Given the description of an element on the screen output the (x, y) to click on. 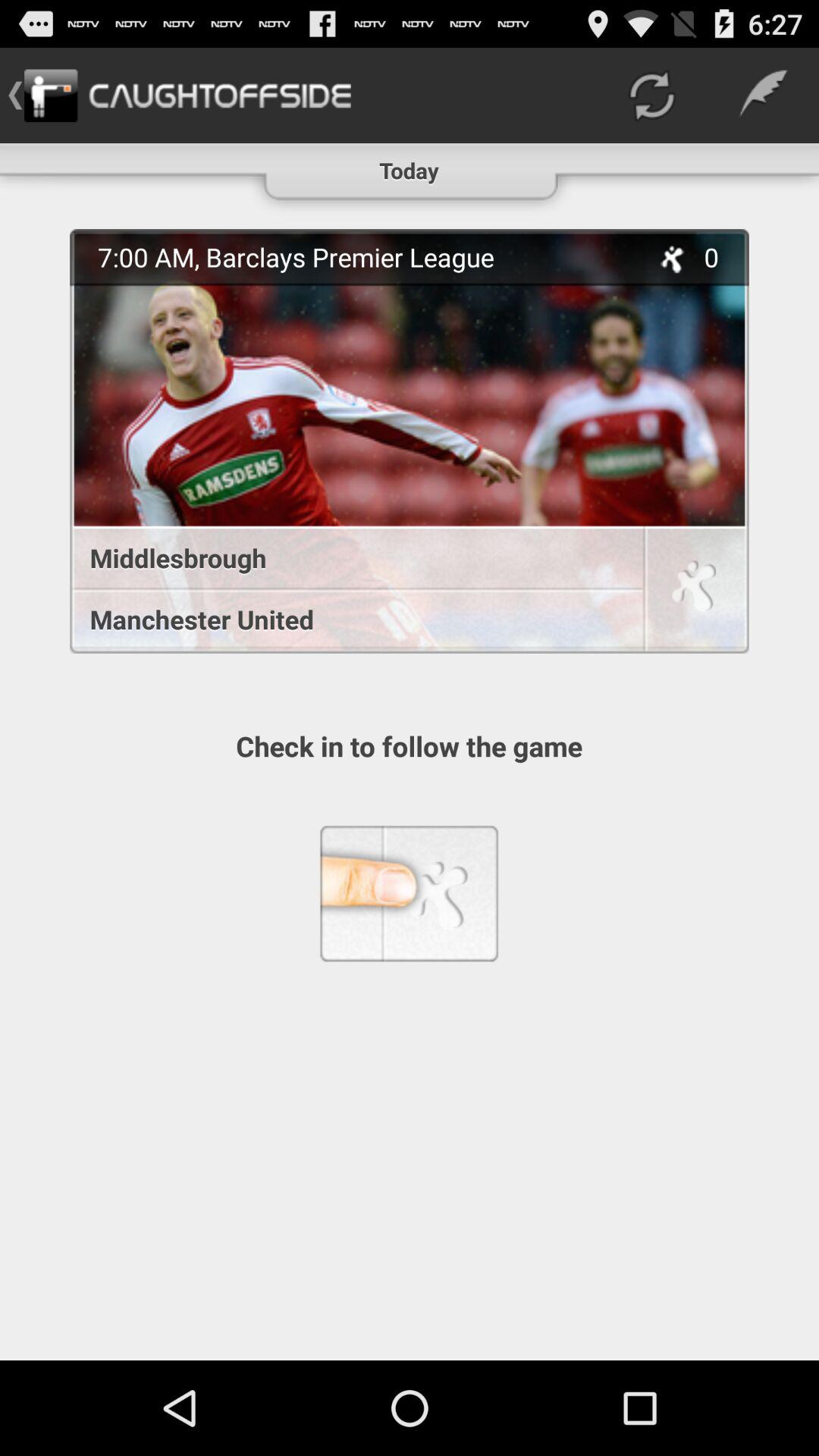
choose the item below the check in to item (409, 893)
